Given the description of an element on the screen output the (x, y) to click on. 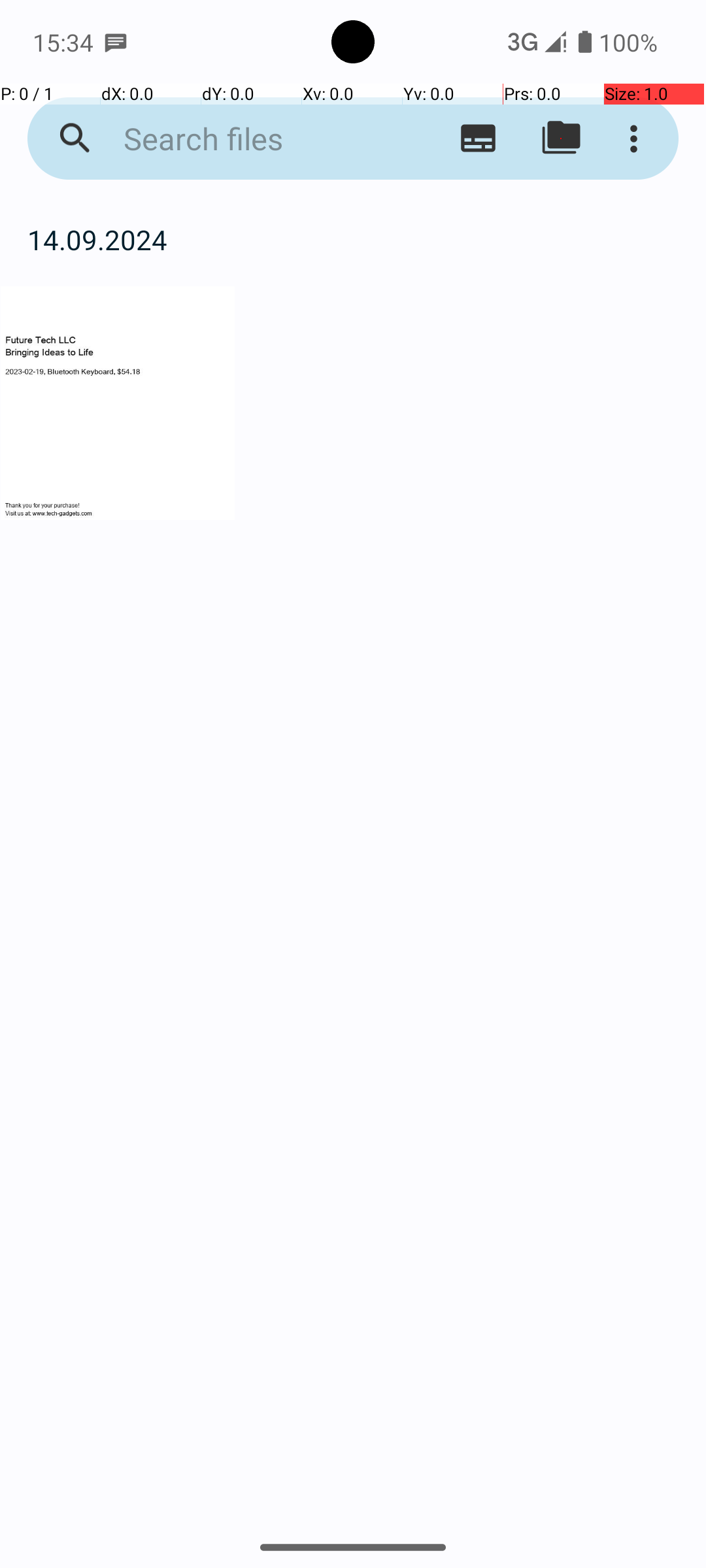
Search files Element type: android.widget.EditText (252, 138)
Toggle filename visibility Element type: android.widget.Button (477, 138)
Switch to folder view Element type: android.widget.Button (560, 138)
14.09.2024 Element type: android.widget.TextView (353, 239)
